Given the description of an element on the screen output the (x, y) to click on. 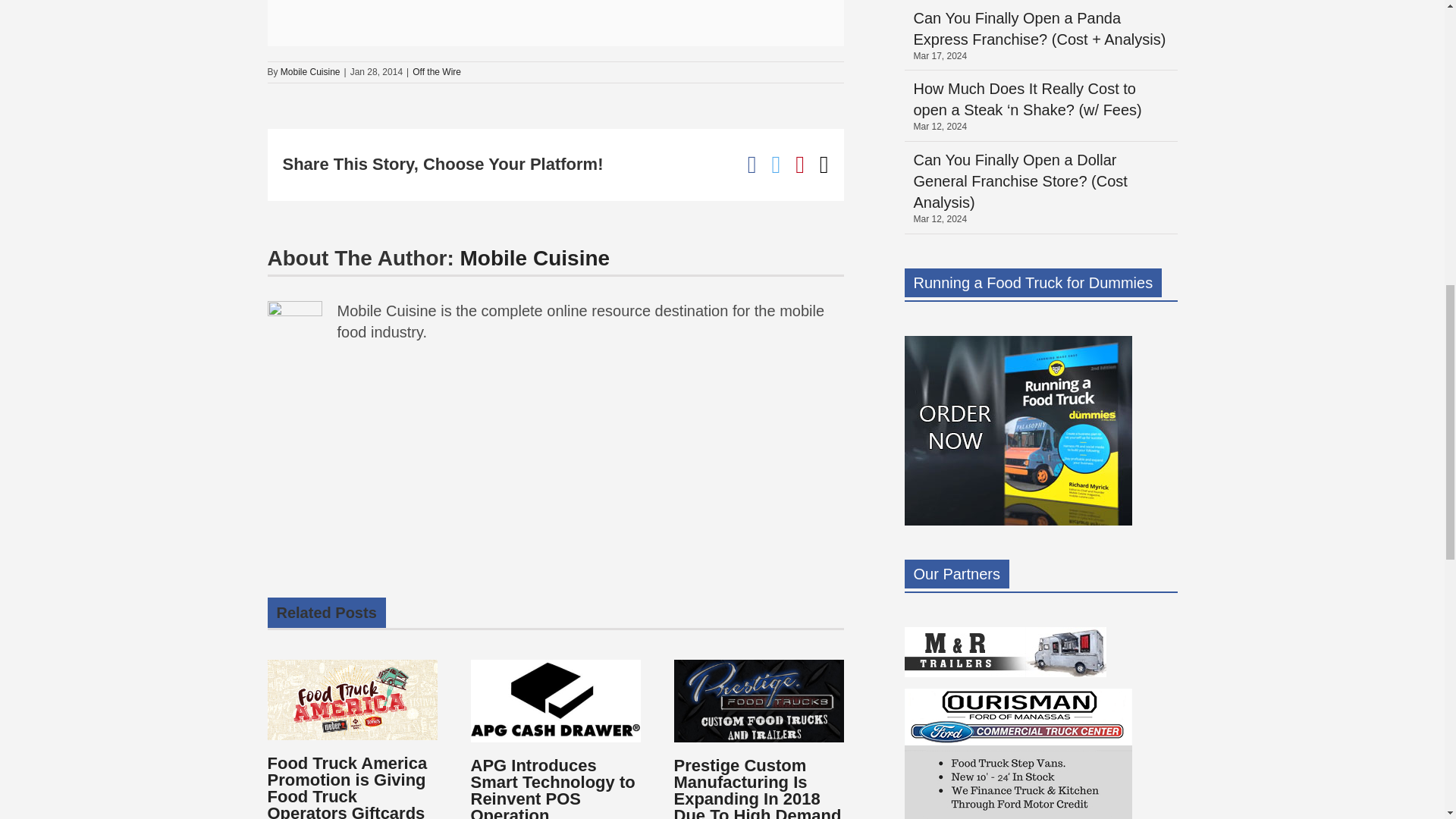
APG Introduces Smart Technology to  Reinvent POS Operation (552, 787)
Posts by Mobile Cuisine (310, 71)
Posts by Mobile Cuisine (535, 258)
